Given the description of an element on the screen output the (x, y) to click on. 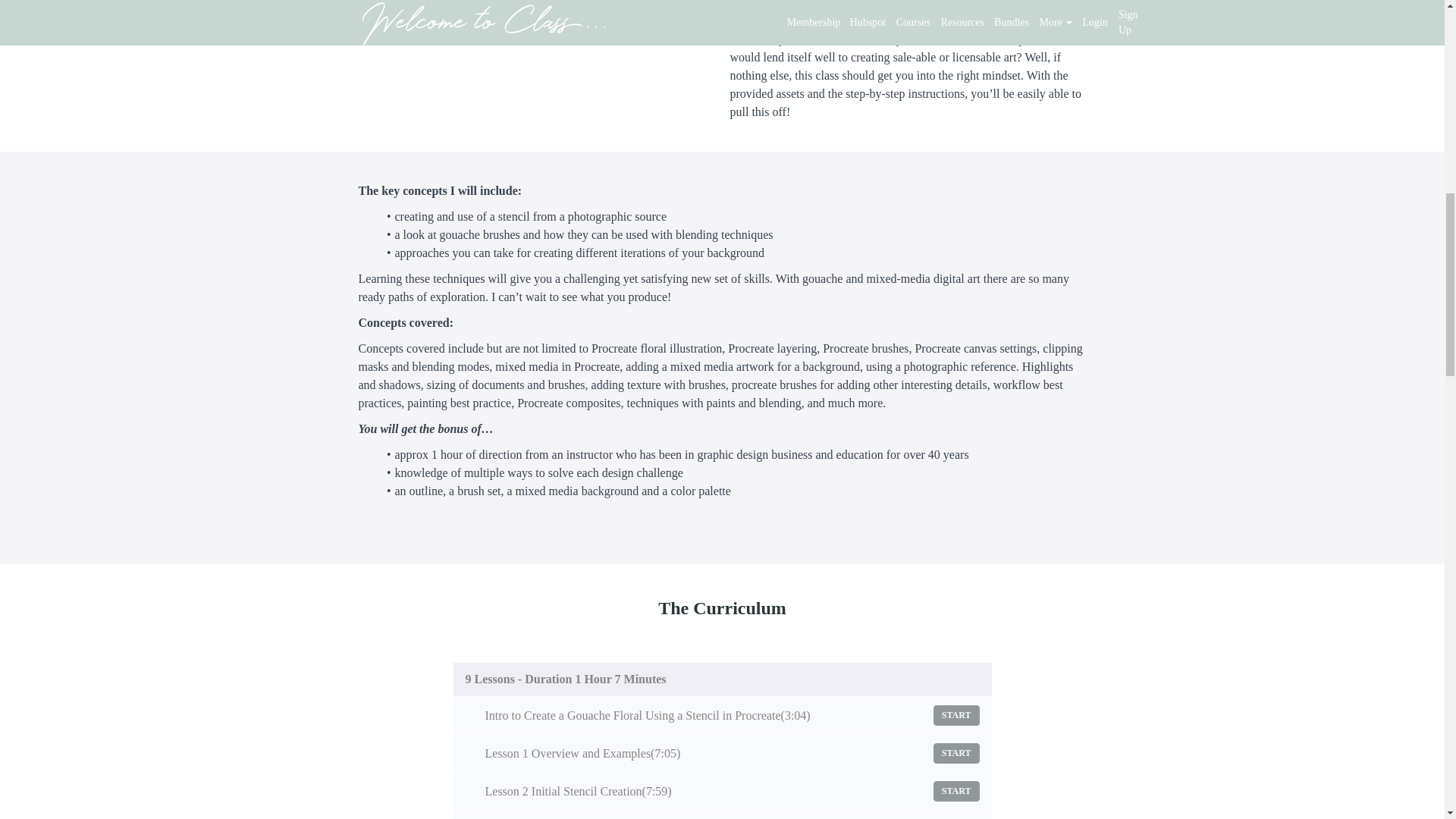
START (956, 791)
START (956, 715)
START (956, 752)
